Given the description of an element on the screen output the (x, y) to click on. 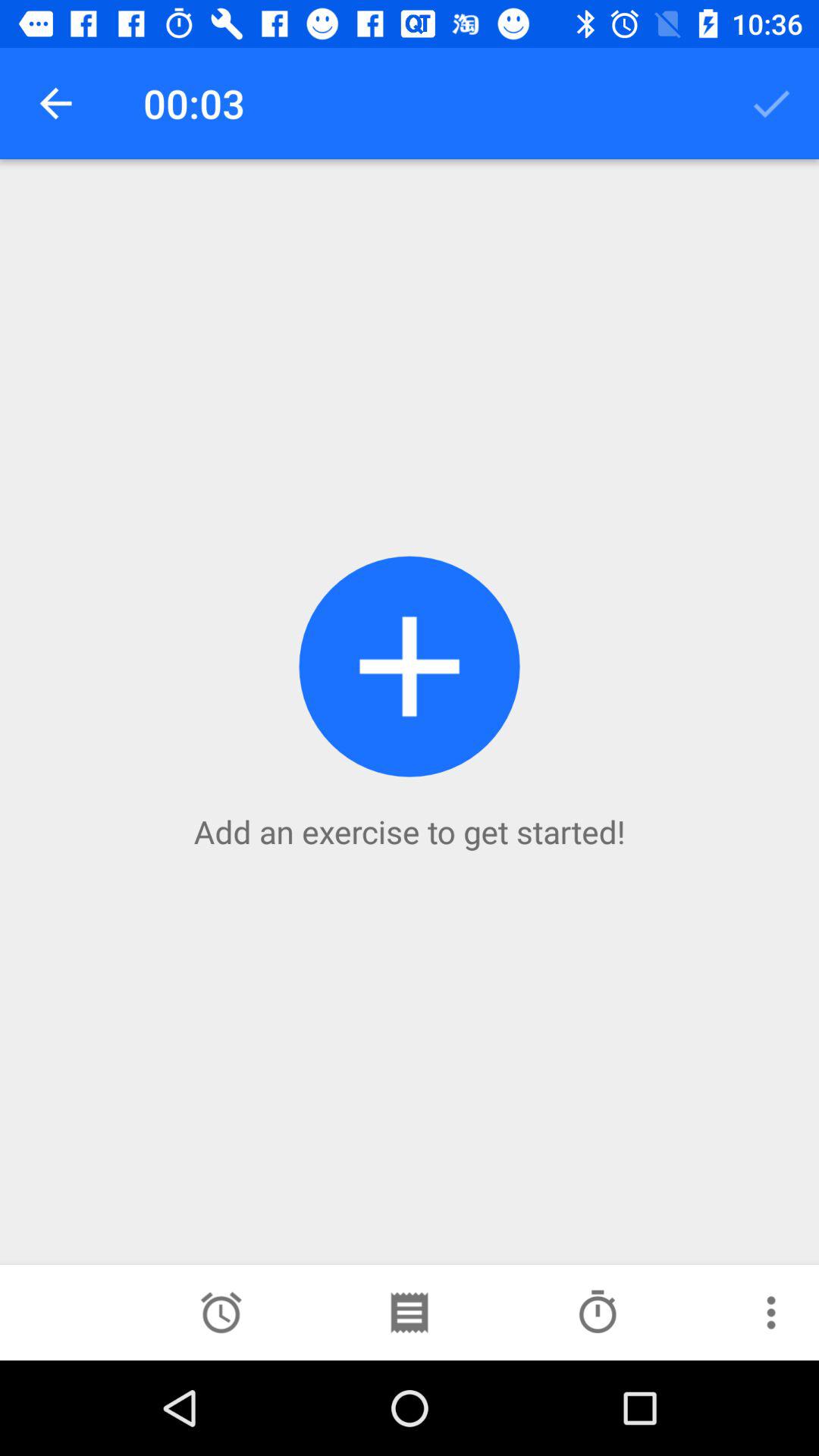
press the item next to the 00:03 item (771, 103)
